Given the description of an element on the screen output the (x, y) to click on. 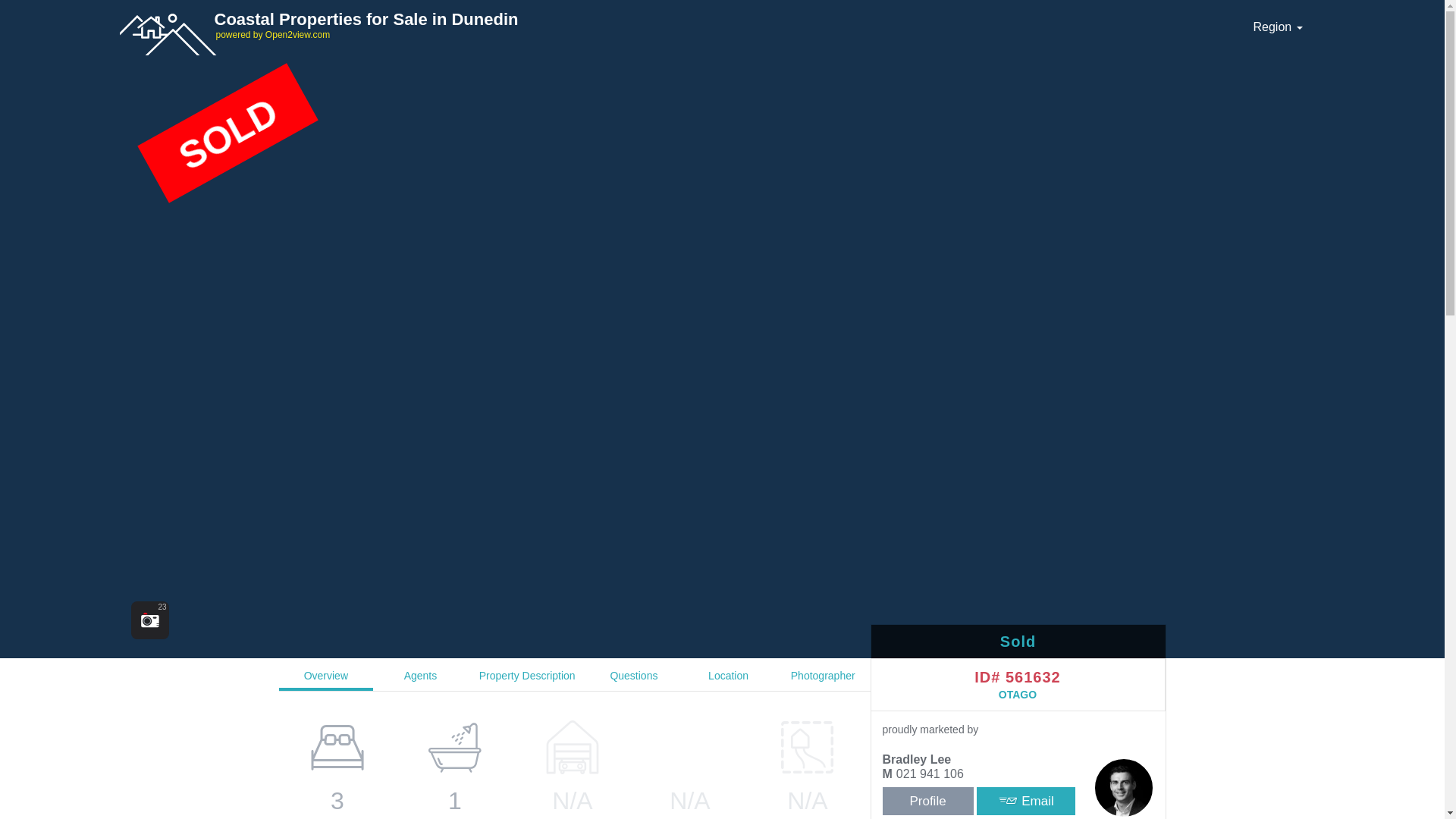
Coastal Properties for Sale in Dunedin (369, 19)
